Given the description of an element on the screen output the (x, y) to click on. 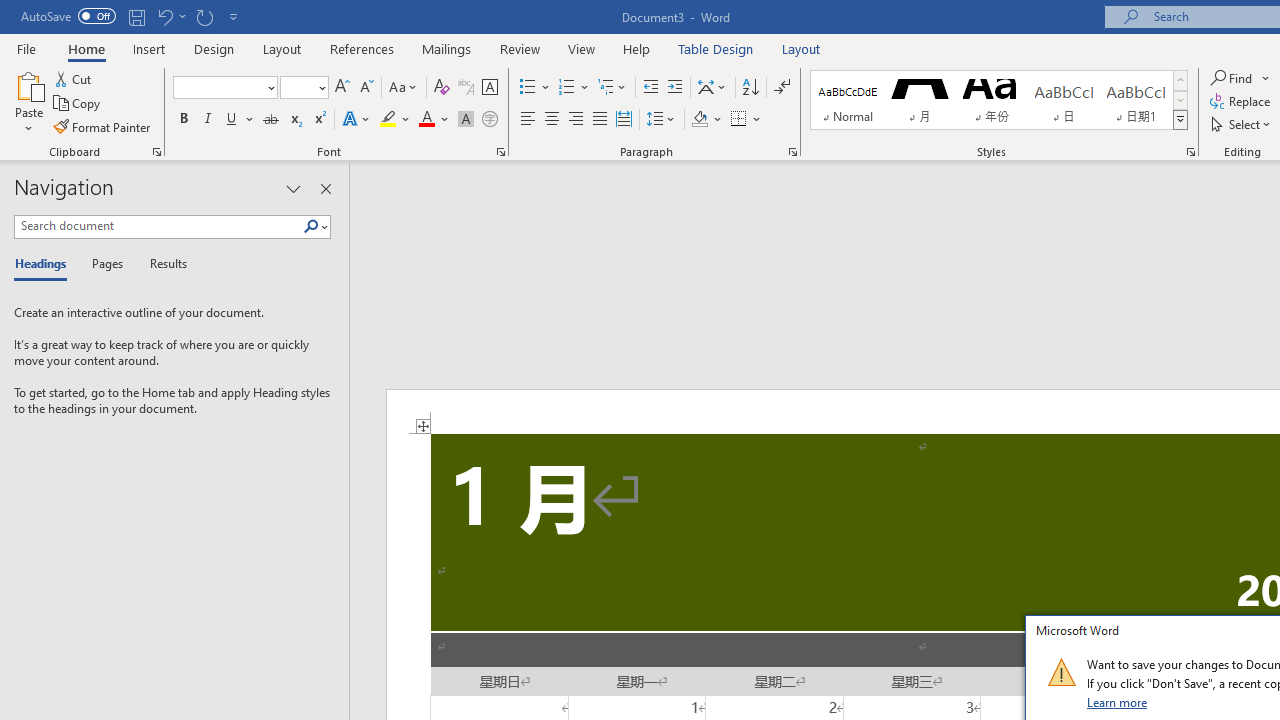
Text Effects and Typography (357, 119)
Sort... (750, 87)
Results (161, 264)
Asian Layout (712, 87)
Clear Formatting (442, 87)
Paragraph... (792, 151)
